Given the description of an element on the screen output the (x, y) to click on. 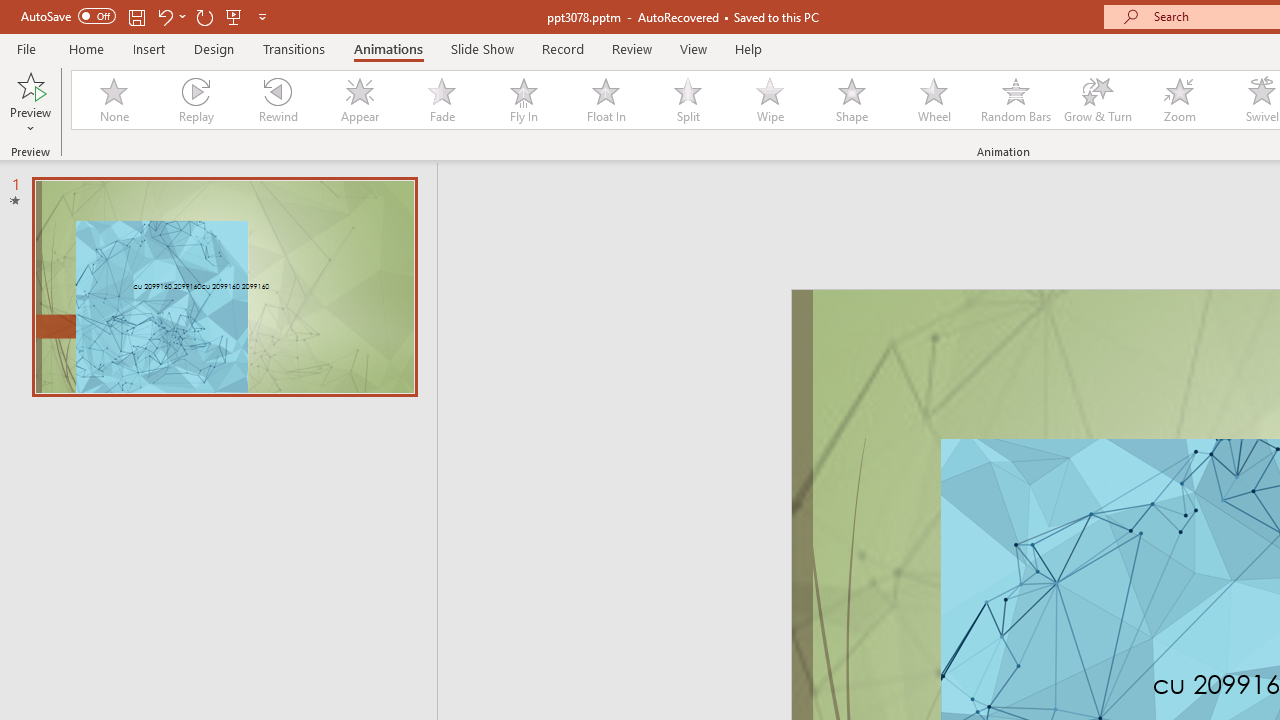
Float In (605, 100)
Appear (359, 100)
Rewind (277, 100)
